Given the description of an element on the screen output the (x, y) to click on. 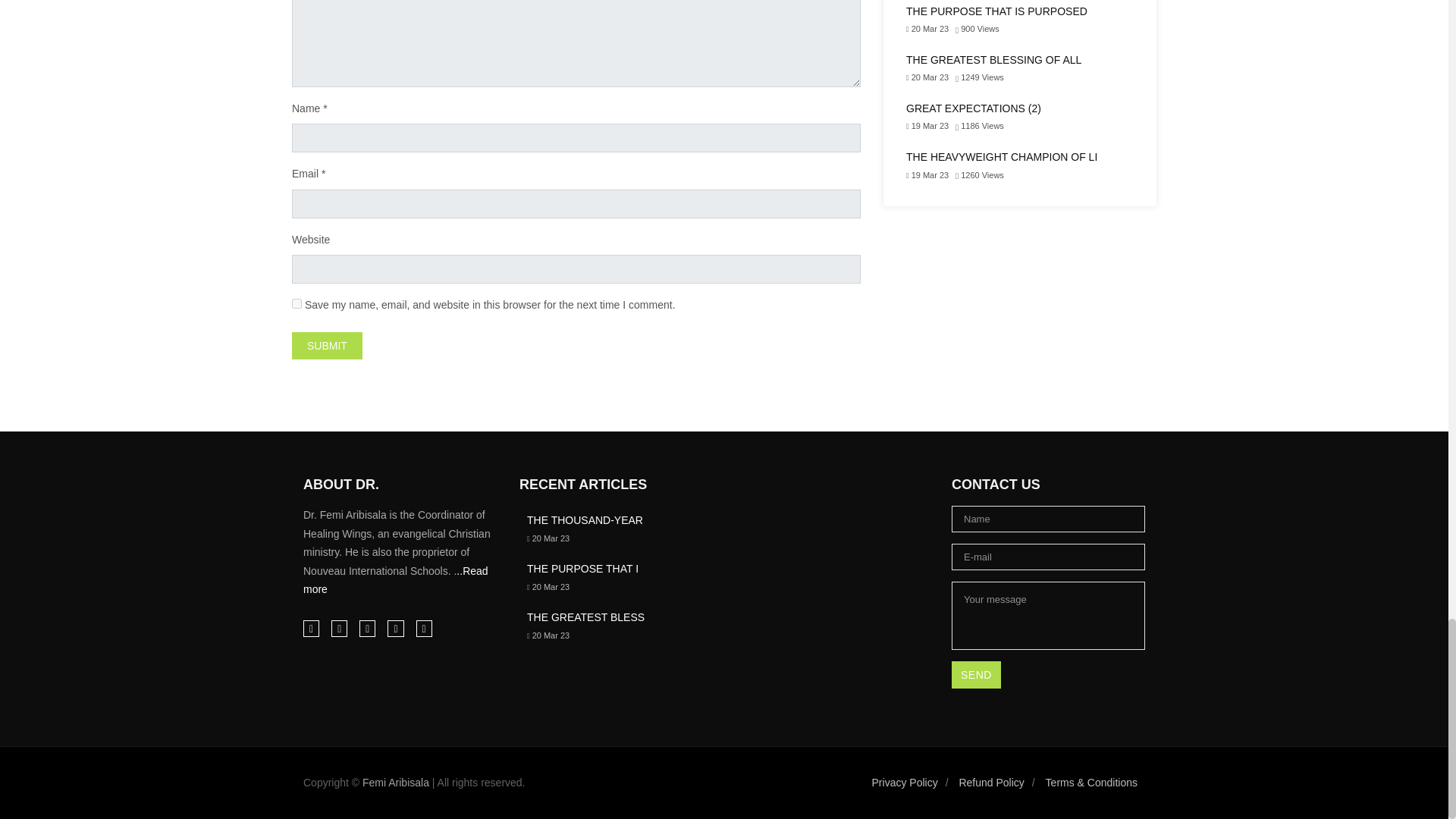
Instagram (339, 628)
Facebook (310, 628)
LinkedIn (367, 628)
Submit (327, 346)
Youtube (422, 628)
yes (296, 303)
Twitter (395, 628)
Send (976, 674)
